Given the description of an element on the screen output the (x, y) to click on. 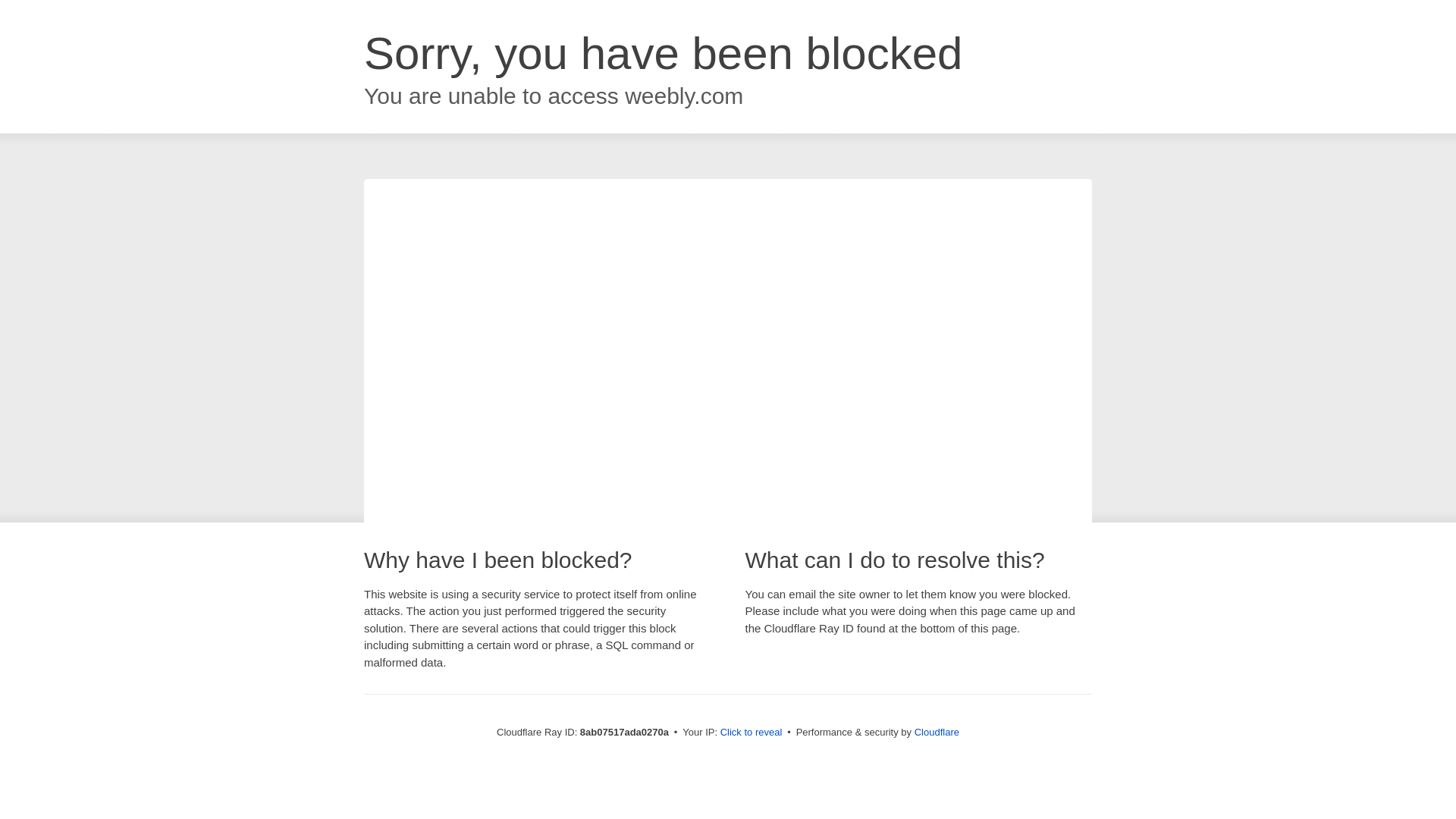
Click to reveal (751, 732)
Cloudflare (936, 731)
